Given the description of an element on the screen output the (x, y) to click on. 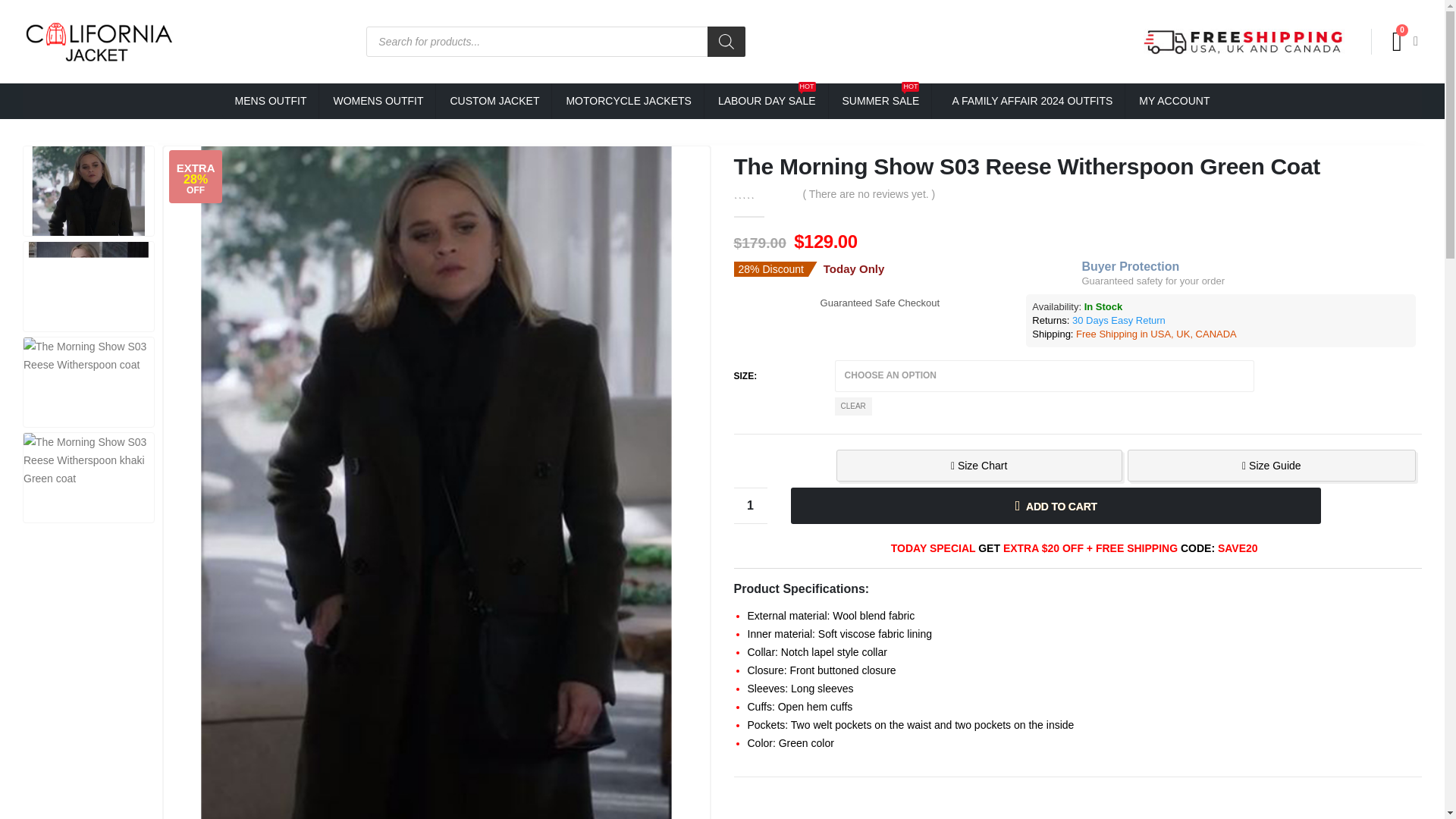
1 (750, 505)
Size Chart (978, 465)
CUSTOM JACKET (494, 100)
A FAMILY AFFAIR 2024 OUTFITS (767, 100)
Qty (881, 100)
MOTORCYCLE JACKETS (1029, 100)
0 (750, 505)
